Given the description of an element on the screen output the (x, y) to click on. 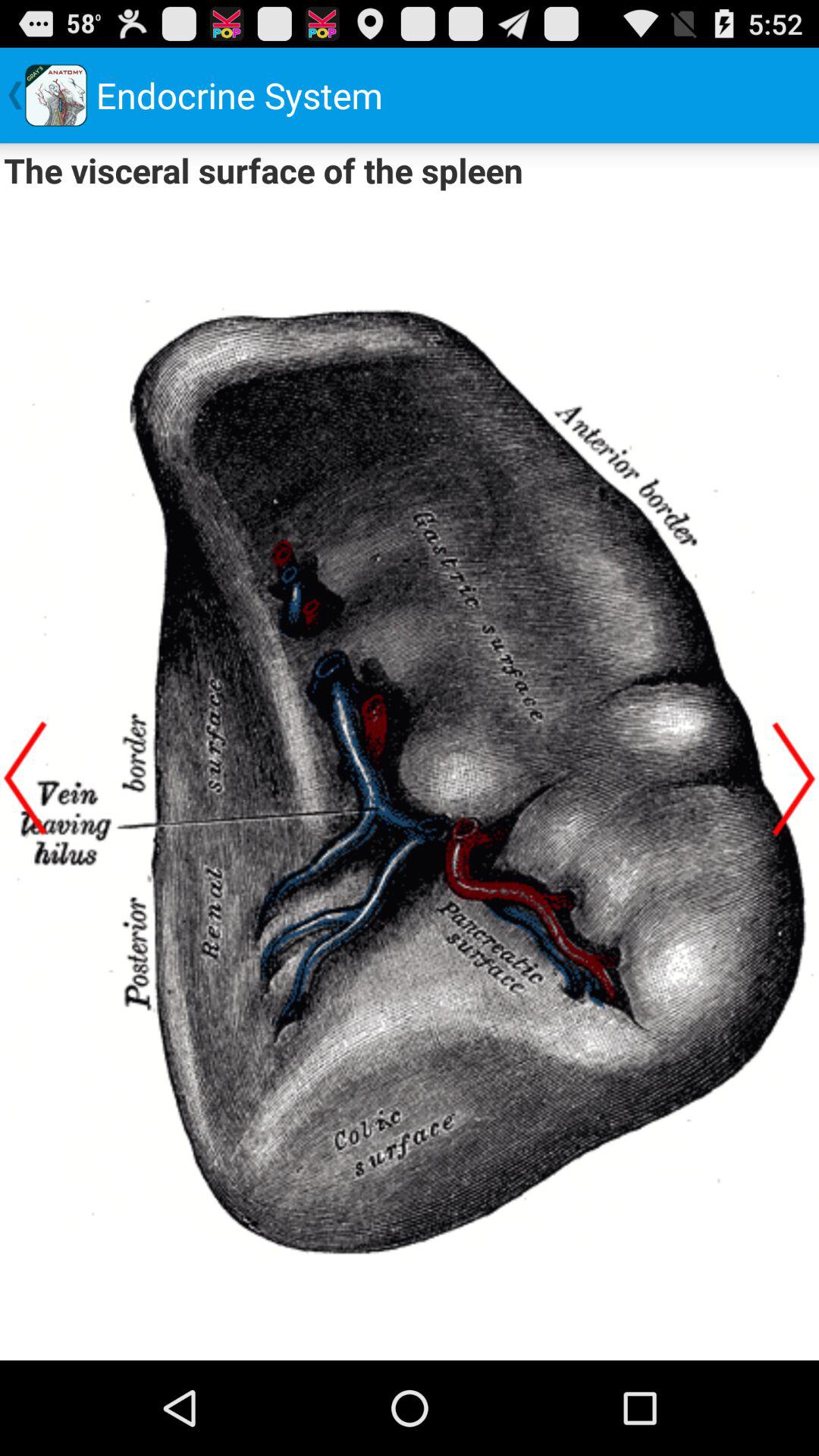
back button (793, 778)
